Given the description of an element on the screen output the (x, y) to click on. 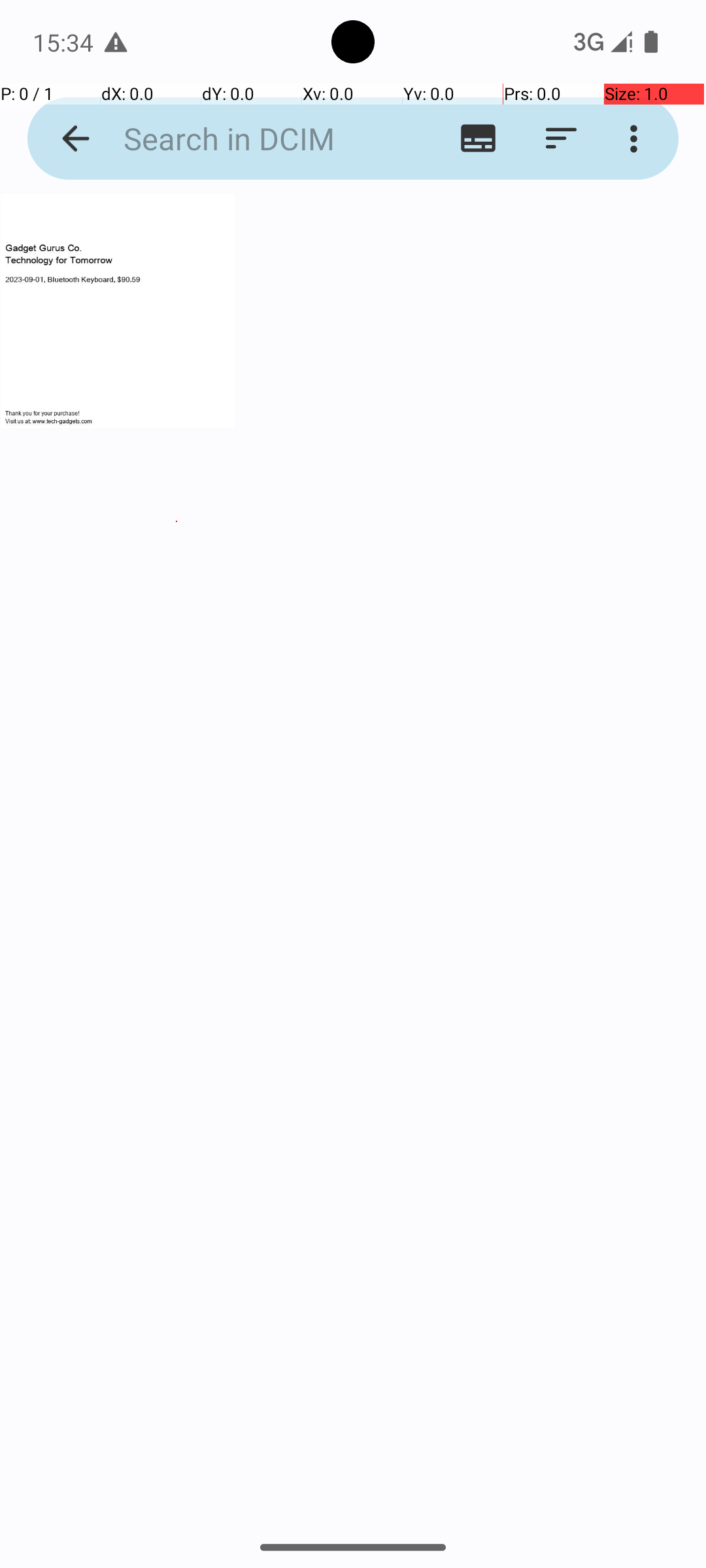
Search in DCIM Element type: android.widget.EditText (252, 138)
Toggle filename visibility Element type: android.widget.Button (477, 138)
